Given the description of an element on the screen output the (x, y) to click on. 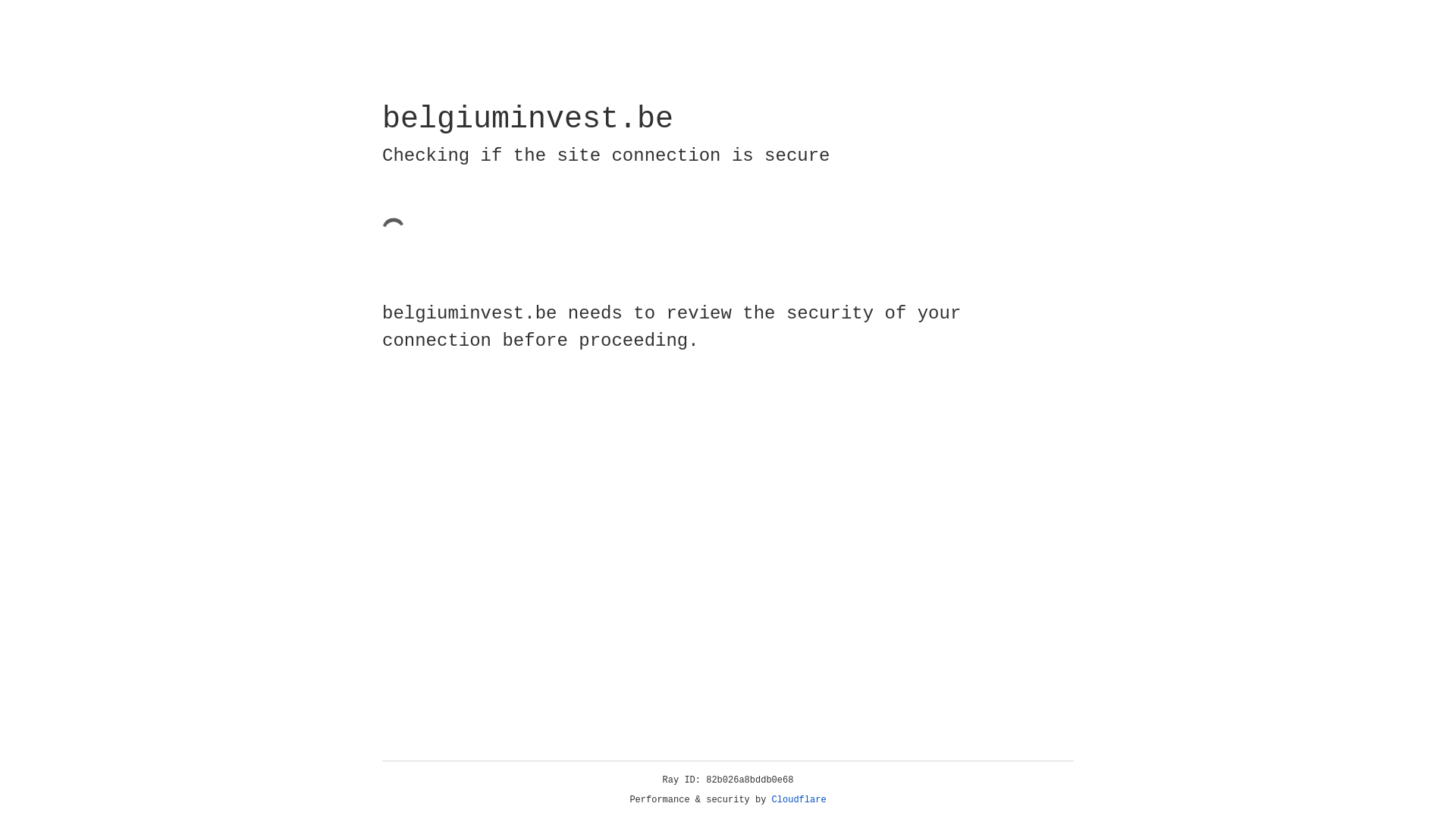
Cloudflare Element type: text (798, 799)
